Given the description of an element on the screen output the (x, y) to click on. 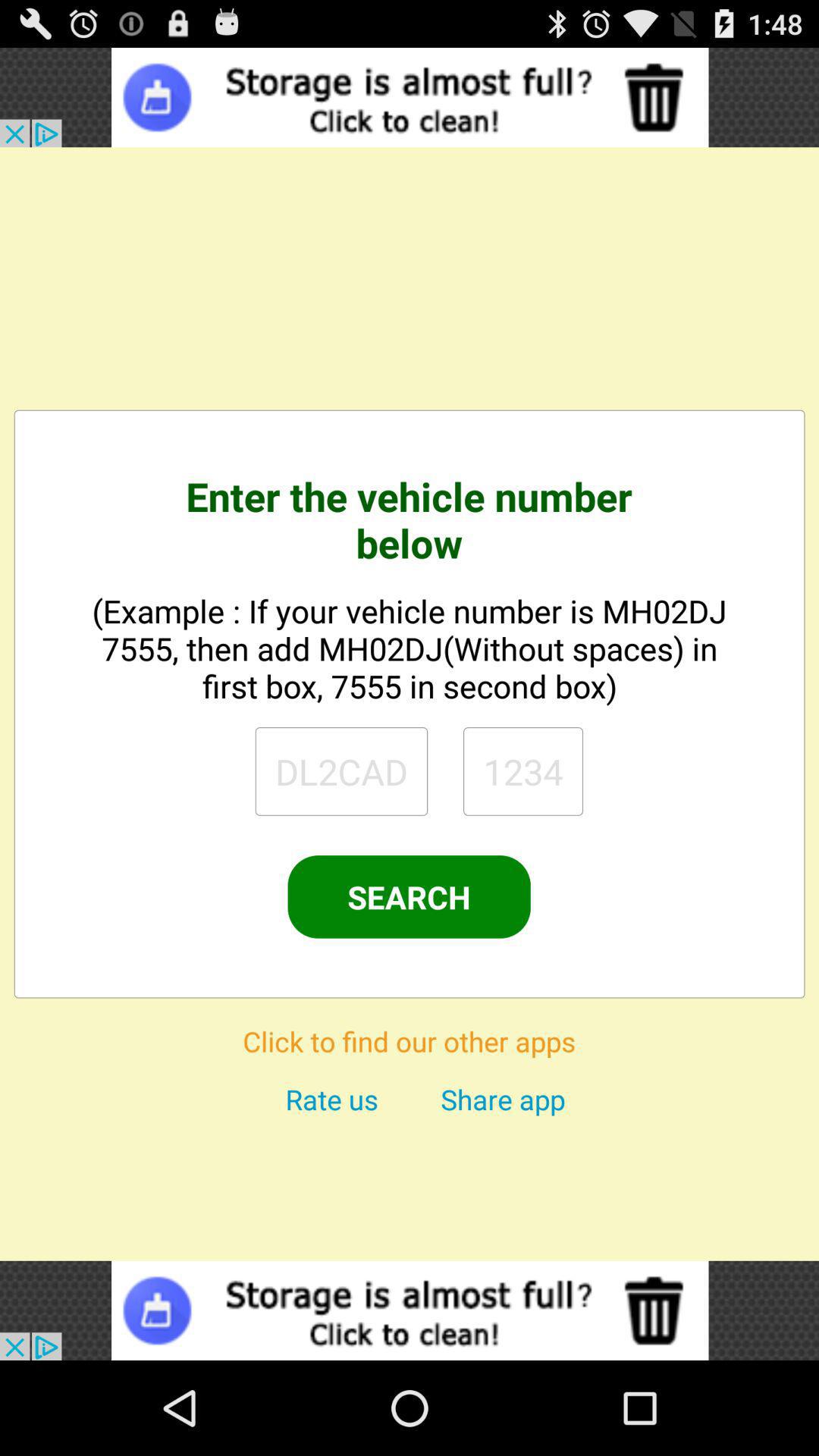
search page (341, 771)
